Given the description of an element on the screen output the (x, y) to click on. 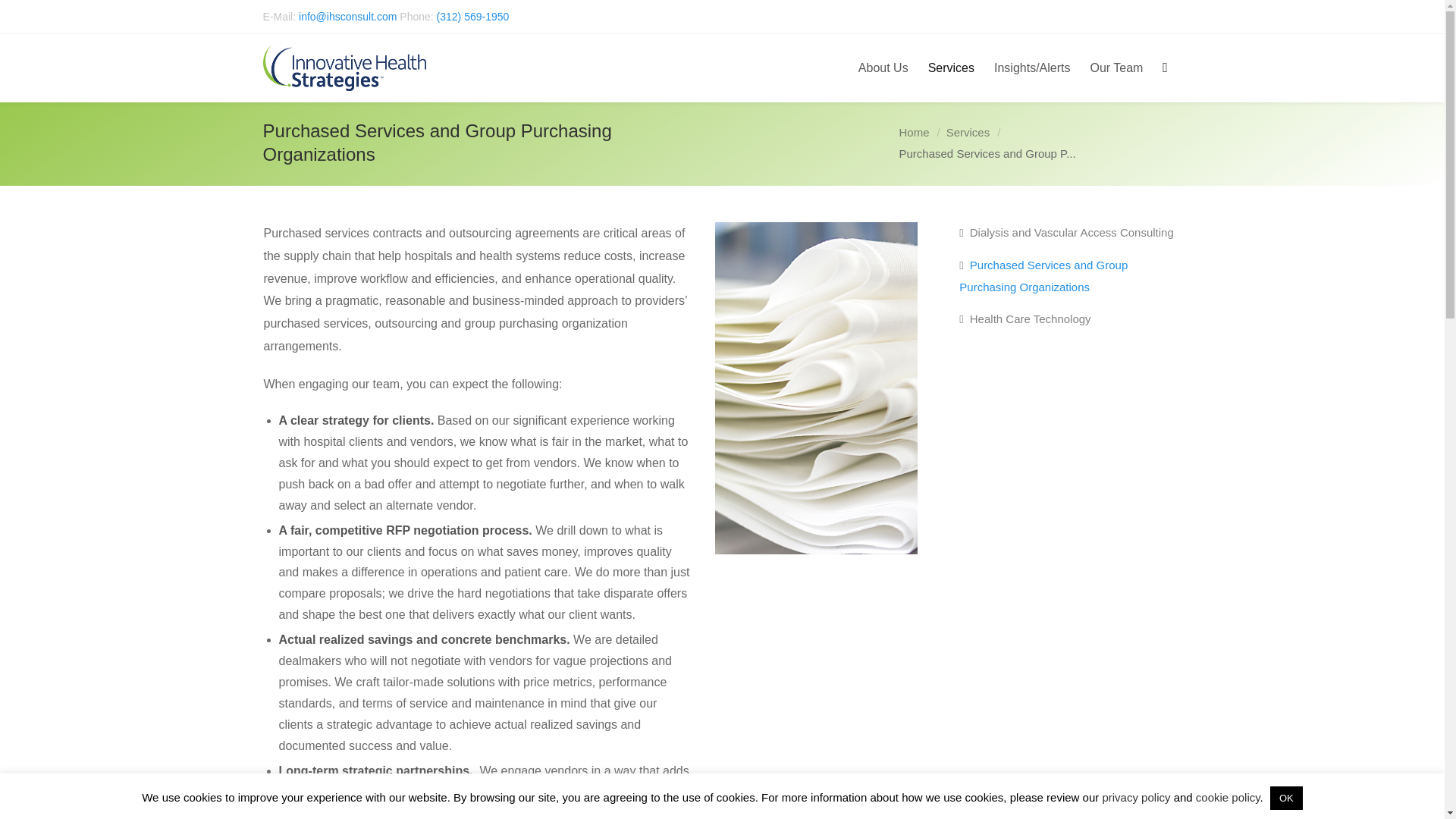
About Us (883, 68)
Our Team (1116, 68)
Services (968, 132)
Services (968, 132)
privacy policy (1136, 797)
OK (1286, 797)
Health Care Technology (1024, 319)
Purchased Services and Group Purchasing Organizations (1069, 276)
Dialysis and Vascular Access Consulting (1066, 235)
Home (914, 132)
cookie policy (1227, 797)
Services (951, 68)
